Given the description of an element on the screen output the (x, y) to click on. 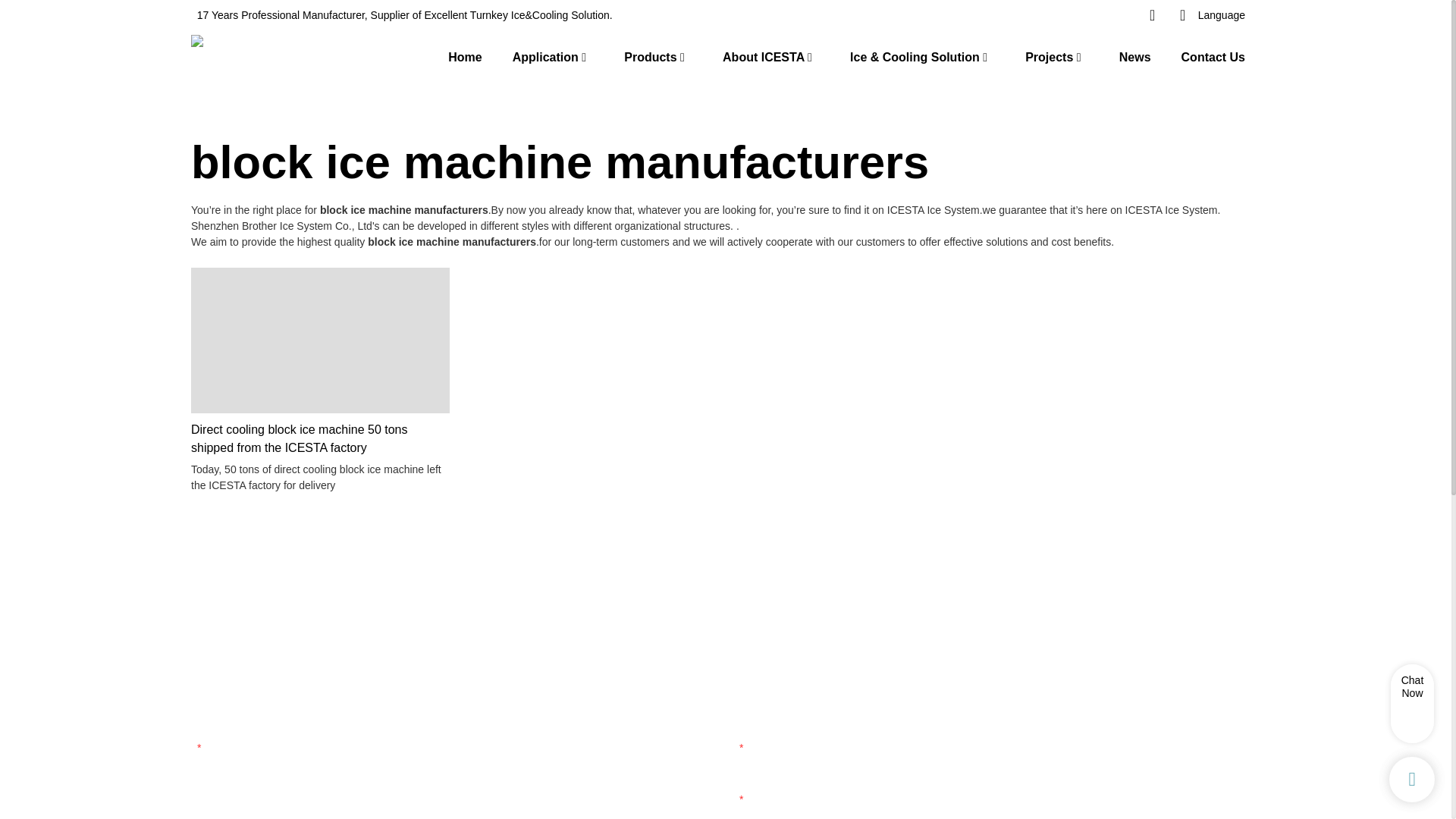
Application (545, 56)
About ICESTA (763, 56)
Home (464, 56)
Products (650, 56)
